Given the description of an element on the screen output the (x, y) to click on. 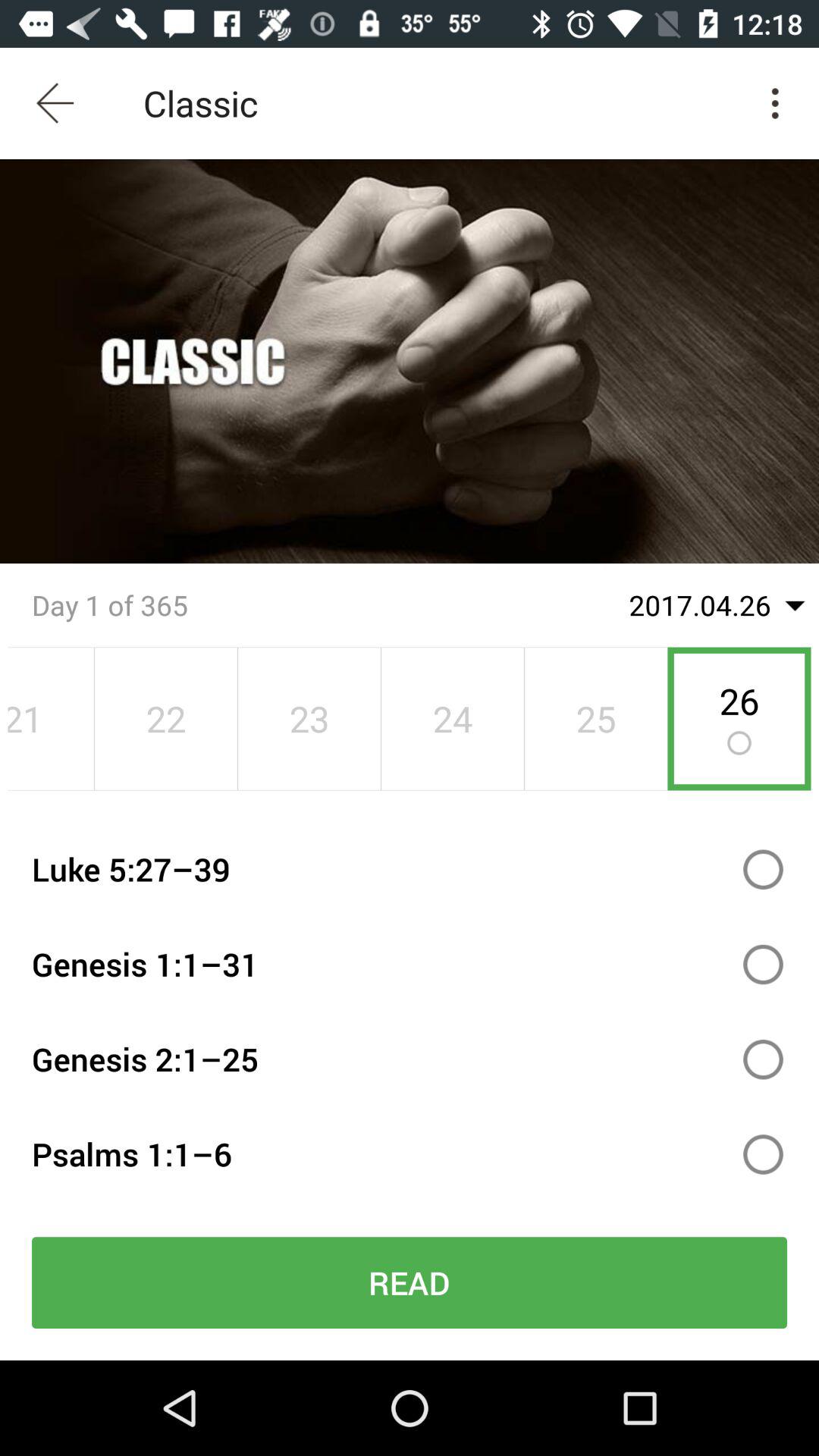
select genesis 1:1 radiobox (763, 964)
